Given the description of an element on the screen output the (x, y) to click on. 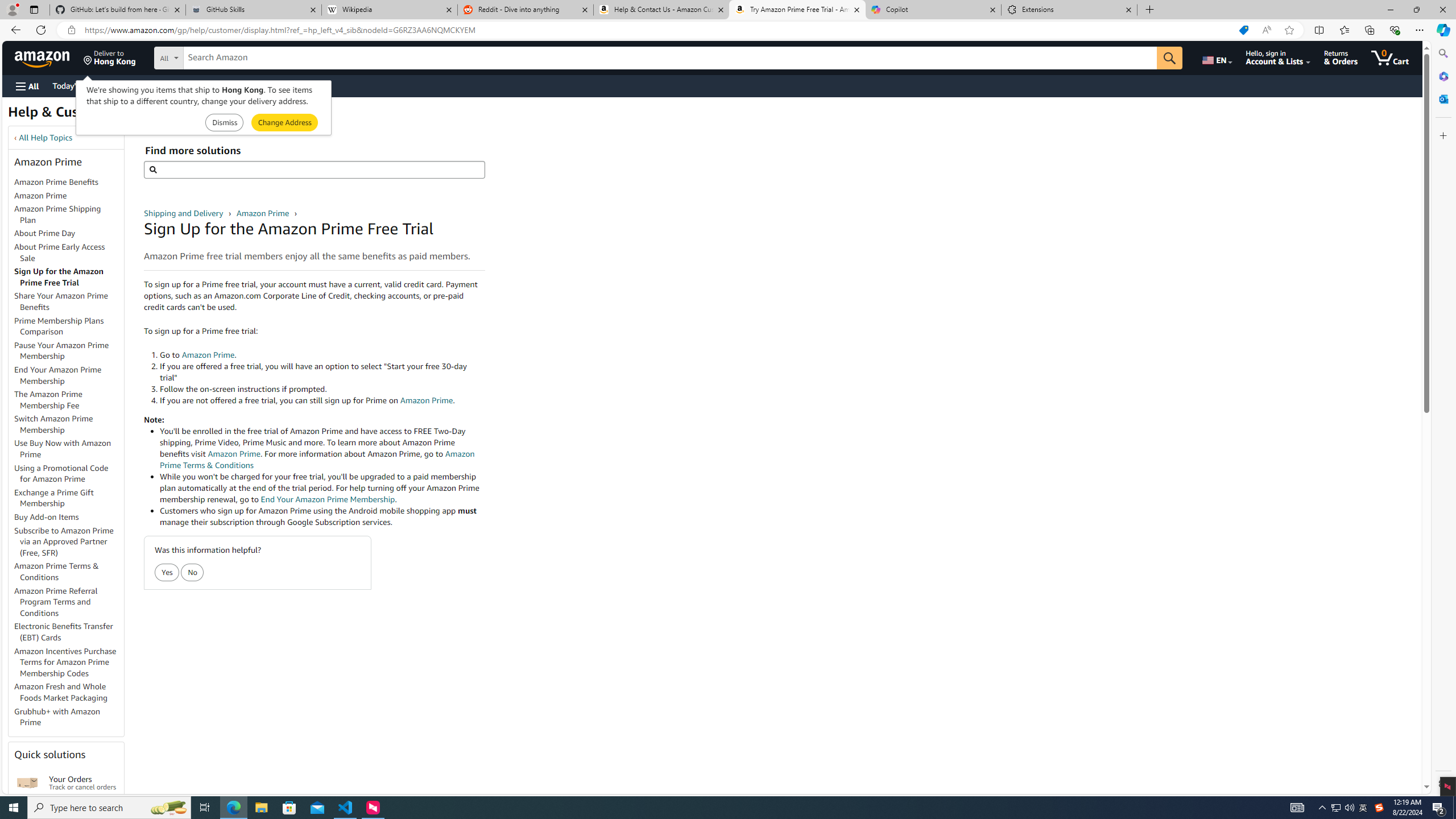
Reddit - Dive into anything (525, 9)
Registry (205, 85)
All Help Topics (45, 137)
Amazon Fresh and Whole Foods Market Packaging (60, 691)
Hello, sign in Account & Lists (1278, 57)
Amazon Prime Terms & Conditions (68, 572)
Buy Add-on Items (46, 516)
About Prime Early Access Sale (59, 251)
Amazon (43, 57)
End Your Amazon Prime Membership (57, 374)
Submit (284, 122)
Sell (290, 85)
